Given the description of an element on the screen output the (x, y) to click on. 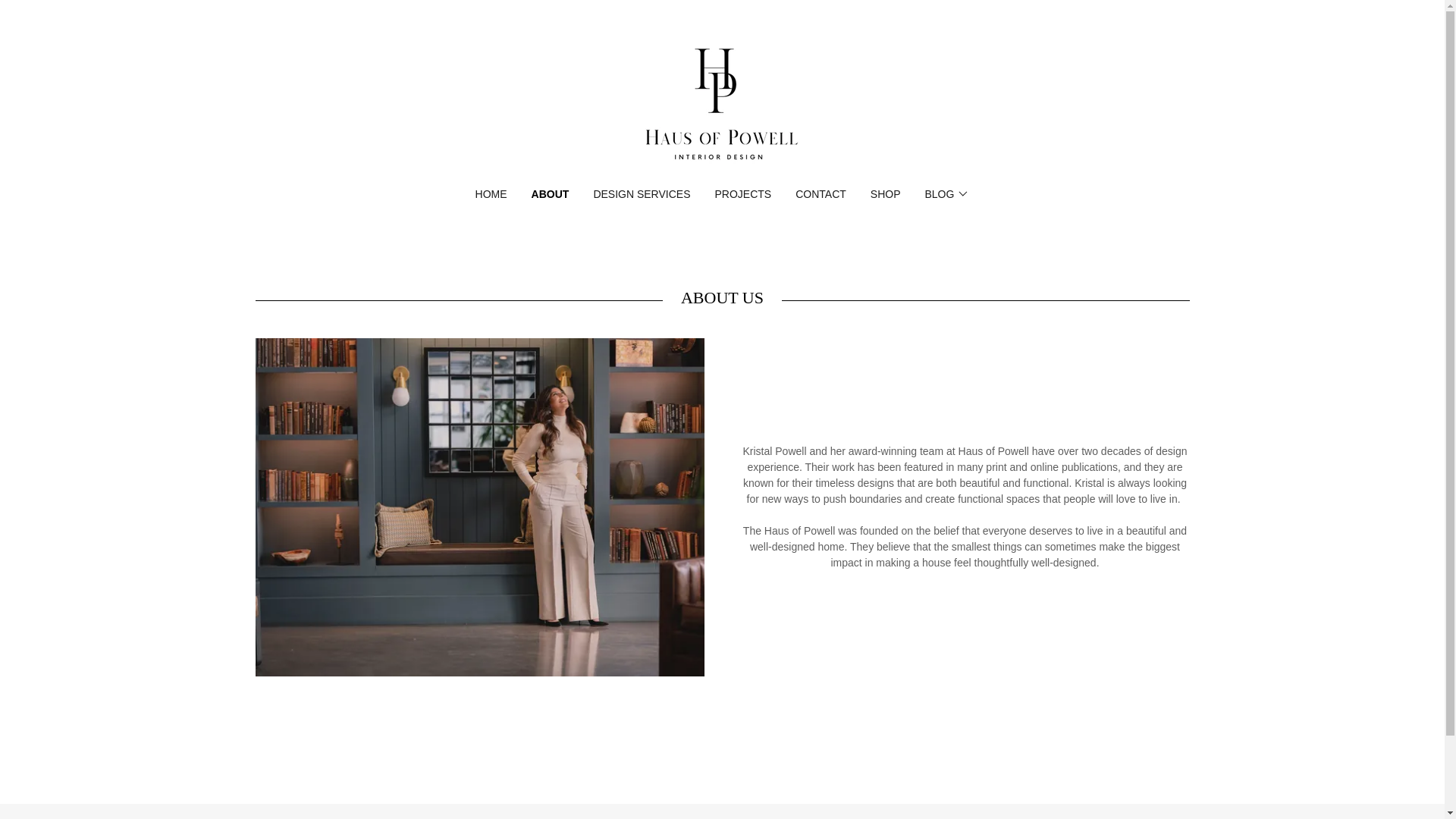
DESIGN SERVICES (641, 194)
HOME (491, 194)
PROJECTS (743, 194)
ABOUT (550, 194)
BLOG (946, 194)
SHOP (885, 194)
CONTACT (820, 194)
